Given the description of an element on the screen output the (x, y) to click on. 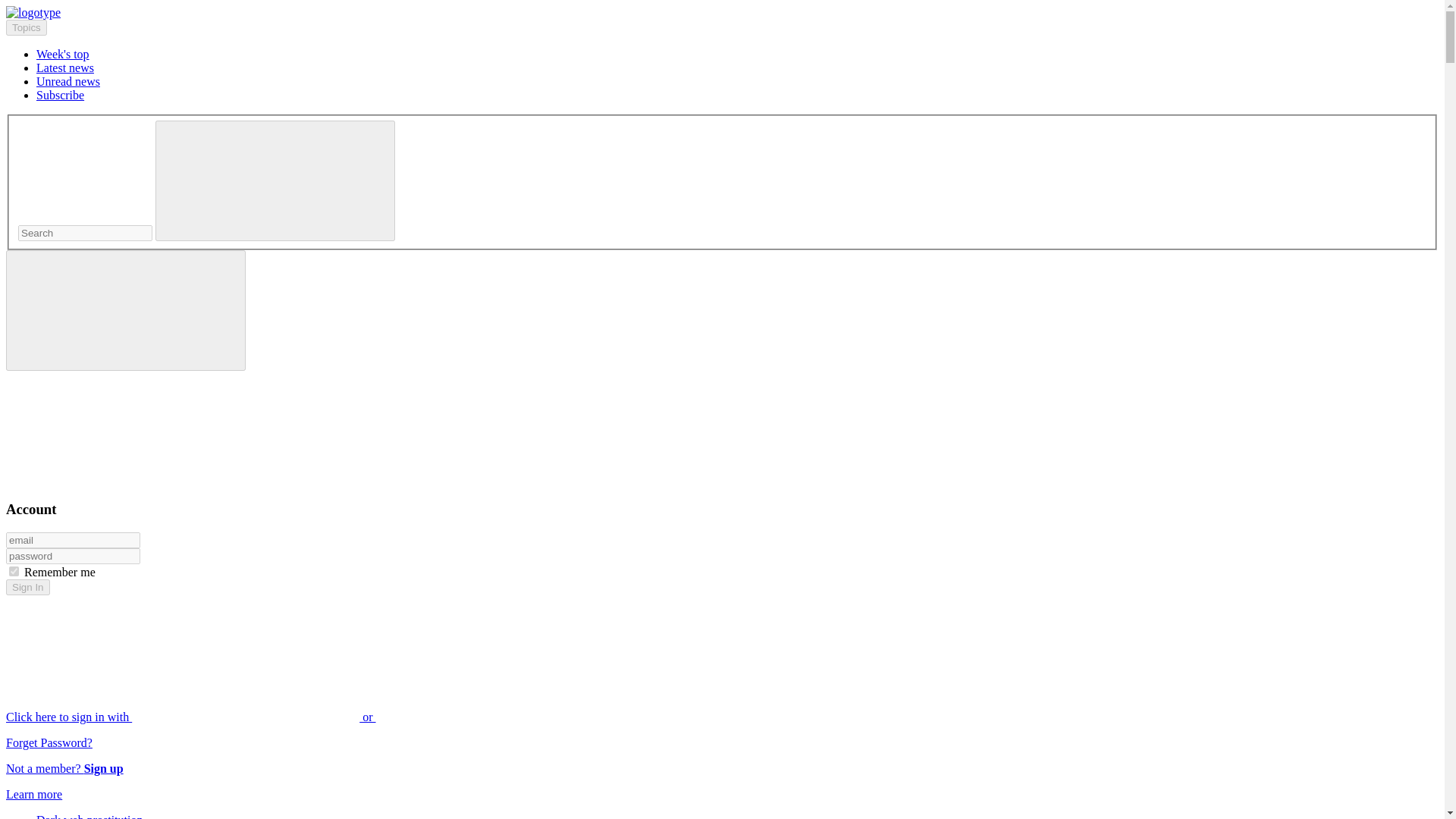
Forget Password? (49, 742)
Latest news (65, 67)
Not a member? Sign up (64, 768)
Topics (25, 27)
Unread news (68, 81)
Click here to sign in with or (304, 716)
Dark web prostitution (89, 816)
Learn more (33, 793)
Subscribe (60, 94)
on (13, 571)
